Given the description of an element on the screen output the (x, y) to click on. 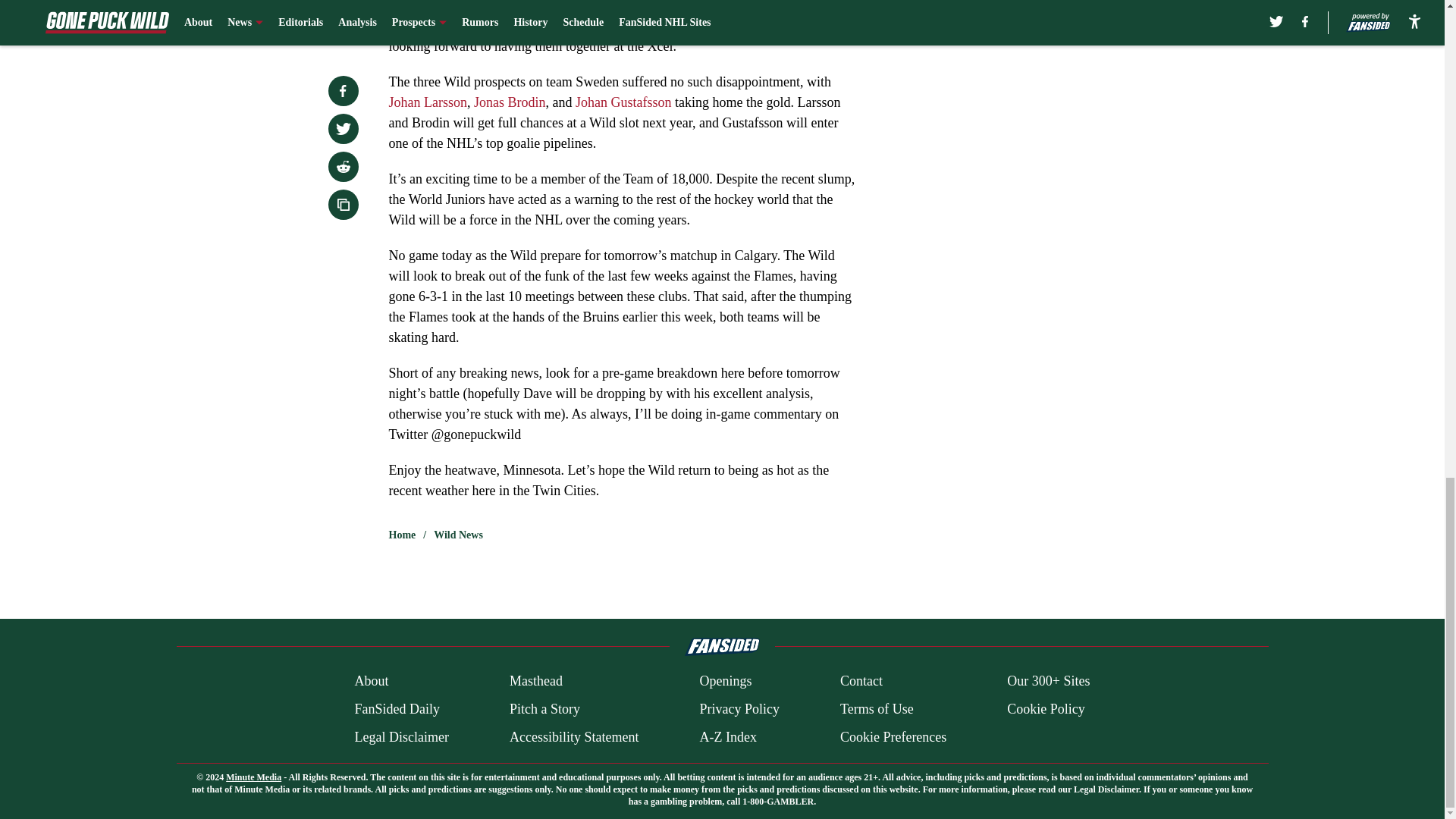
Johan Gustafsson (623, 102)
Home (401, 534)
Cookie Policy (1045, 709)
Terms of Use (877, 709)
FanSided Daily (396, 709)
Johan Larsson (426, 102)
Openings (724, 680)
About (370, 680)
Pitch a Story (544, 709)
Masthead (535, 680)
Contact (861, 680)
Wild News (458, 534)
Jonas Brodin (510, 102)
Privacy Policy (738, 709)
